Given the description of an element on the screen output the (x, y) to click on. 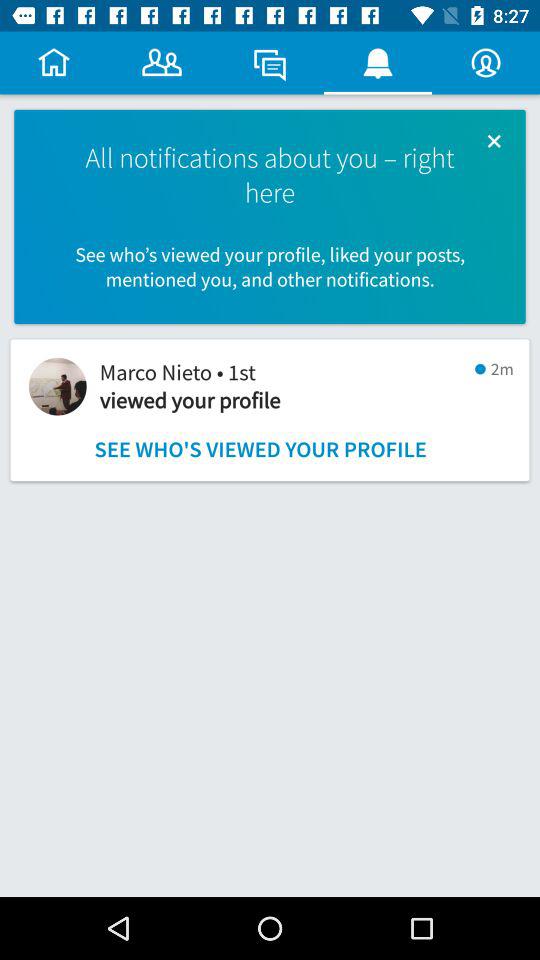
turn off icon above the see who s icon (493, 140)
